Given the description of an element on the screen output the (x, y) to click on. 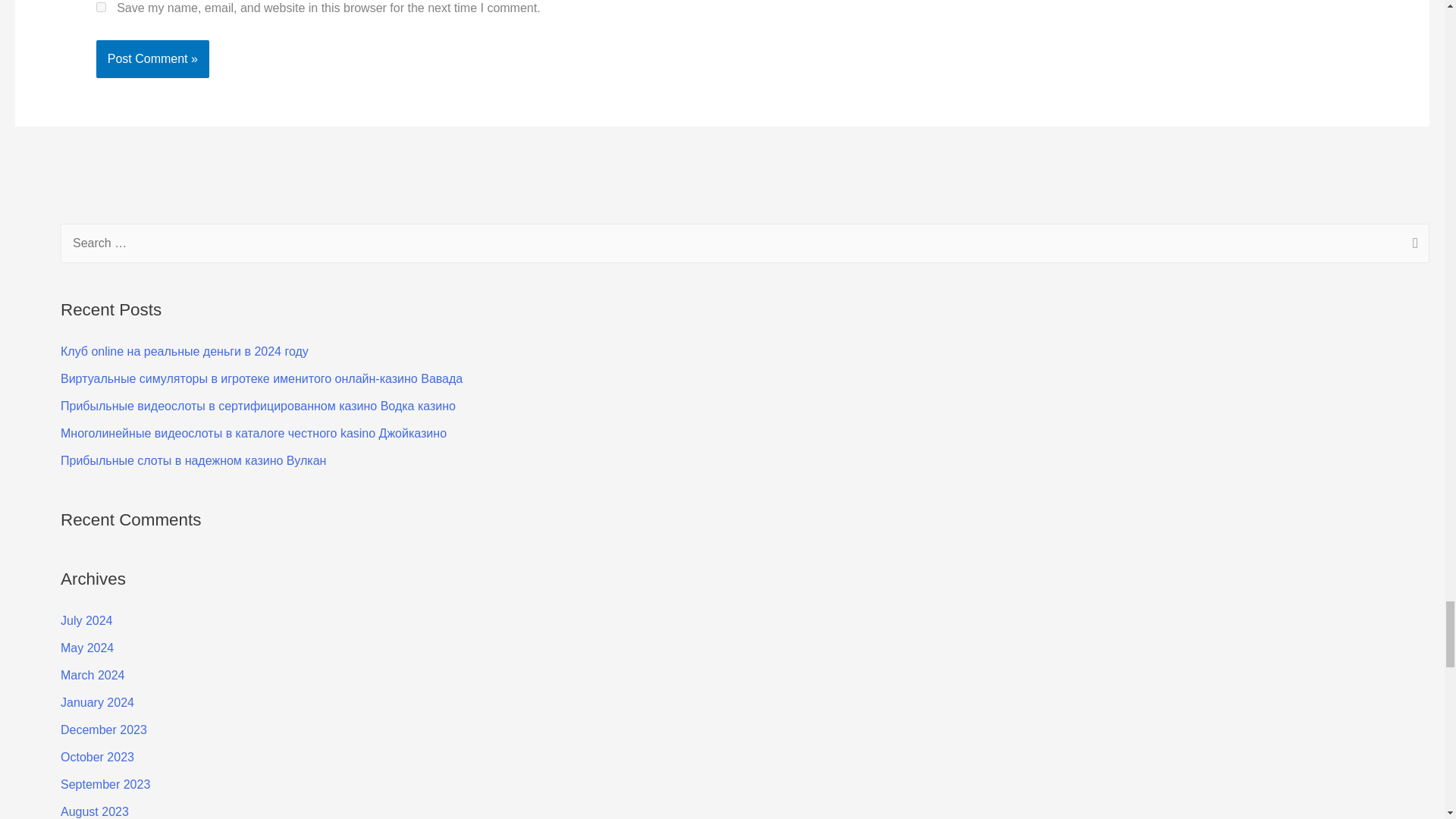
yes (101, 7)
May 2024 (87, 647)
March 2024 (93, 675)
July 2024 (87, 620)
January 2024 (97, 702)
